Given the description of an element on the screen output the (x, y) to click on. 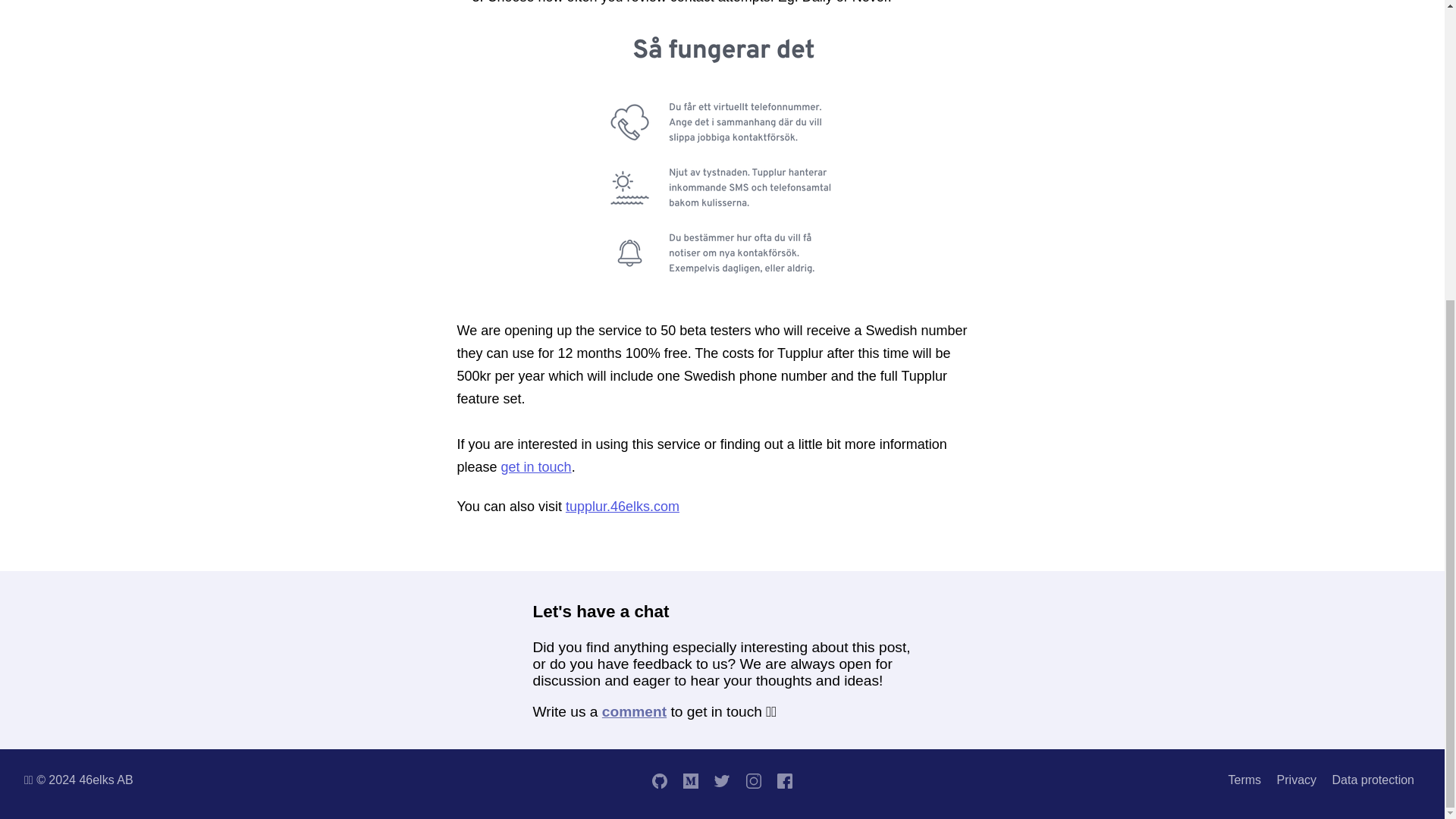
Link to 46elks Privacy Policy (1296, 780)
tupplur.46elks.com (622, 506)
Link to Facebook (785, 779)
Link to Instagram (753, 779)
Link to 46elks Data Protection Policy (1372, 780)
Link to Github (658, 779)
get in touch (536, 467)
comment (634, 711)
Link to Medium (690, 779)
Link to 46elks Terms (1245, 780)
Link to Twitter (721, 779)
